Given the description of an element on the screen output the (x, y) to click on. 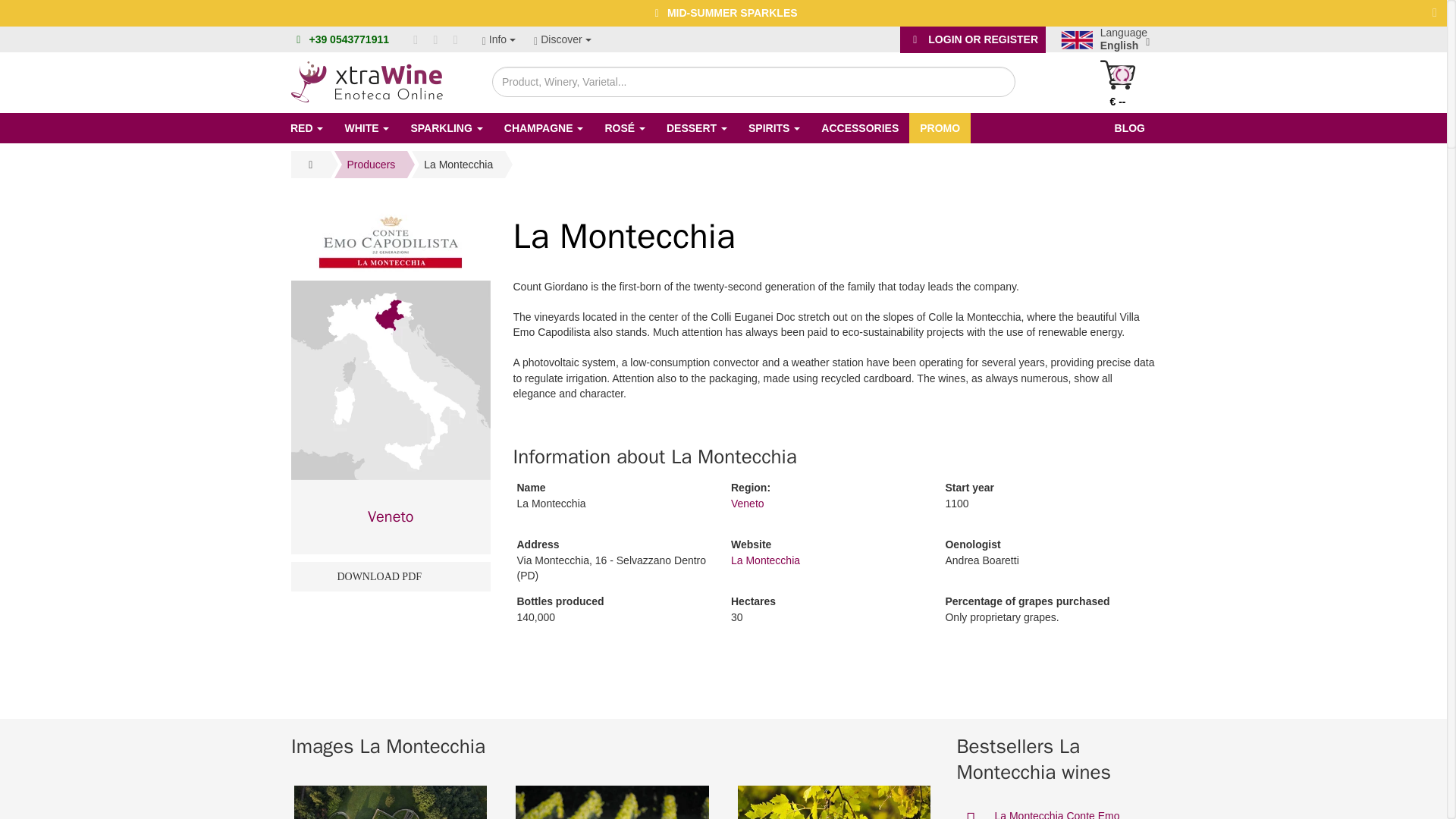
Phone (348, 39)
Discover (562, 39)
Phone (298, 39)
  LOGIN OR REGISTER (972, 39)
Search (988, 80)
Info (498, 39)
Close banner (1434, 12)
